Given the description of an element on the screen output the (x, y) to click on. 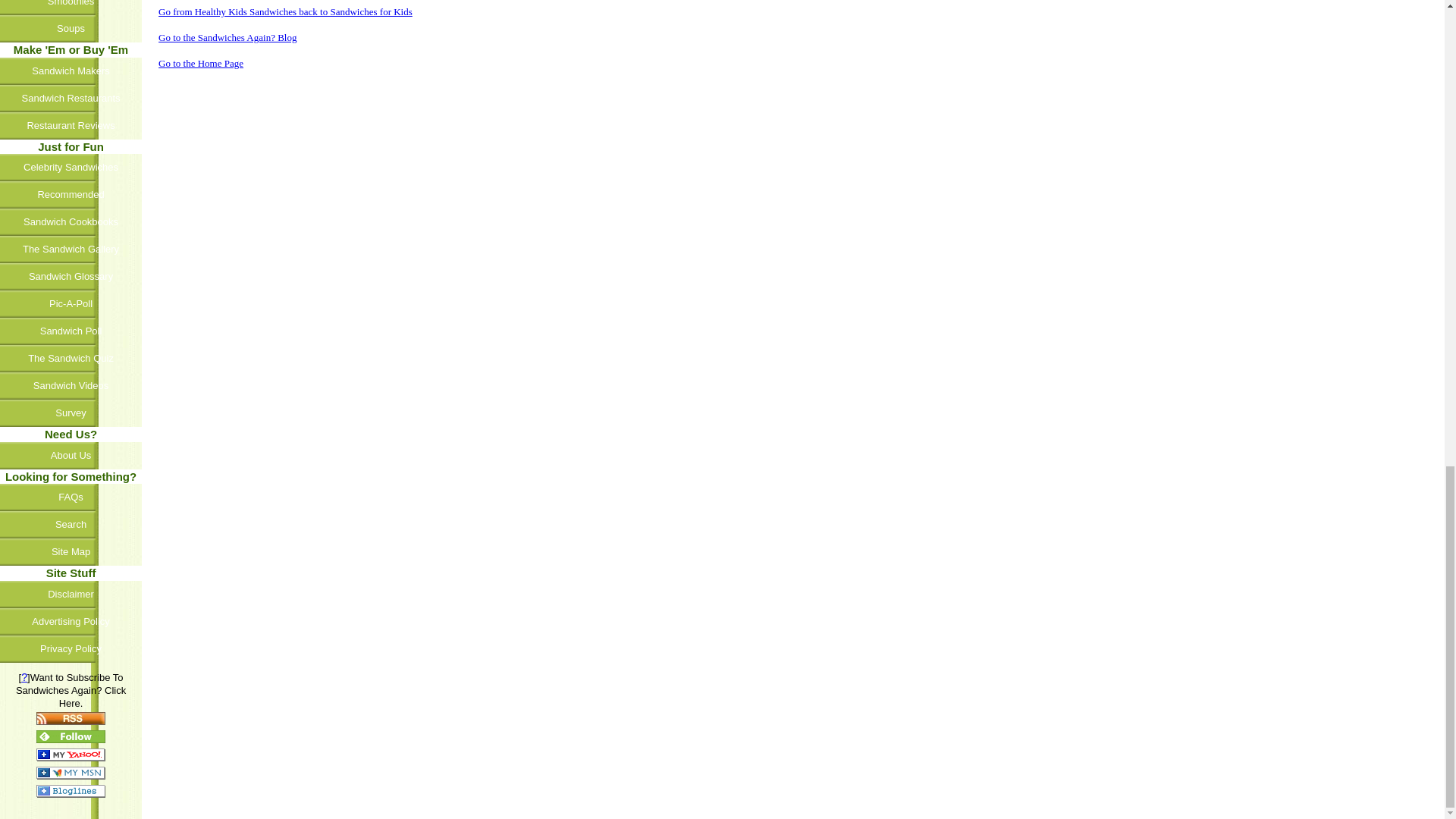
Sandwiches Again? Blog (227, 37)
The Sandwich Gallery (72, 248)
Sandwich Makers (72, 71)
Home Page (200, 62)
Sandwich Restaurants (72, 98)
Celebrity Sandwiches (72, 166)
Sandwich Cookbooks (72, 221)
Sandwich Glossary (72, 276)
Recommended (72, 194)
Sandwiches for Kids (285, 11)
